Given the description of an element on the screen output the (x, y) to click on. 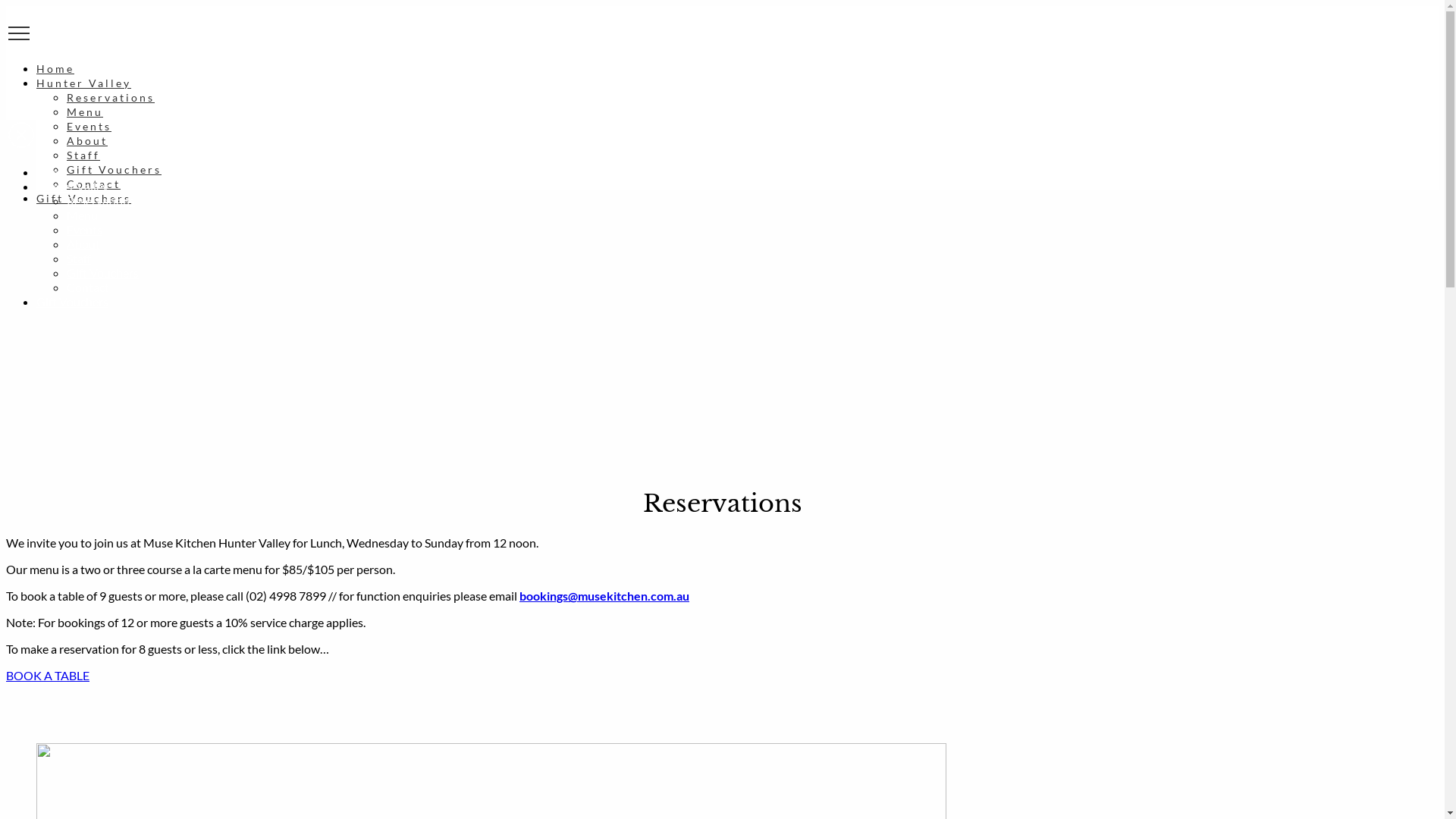
bookings@musekitchen.com.au Element type: text (604, 595)
Home Element type: text (55, 68)
Hunter Valley Element type: text (83, 82)
Staff Element type: text (78, 258)
Menu Element type: text (84, 111)
Gift Vouchers Element type: text (72, 301)
About Element type: text (86, 140)
Hunter Valley Element type: text (72, 185)
Events Element type: text (88, 125)
Gift Vouchers Element type: text (113, 169)
Events Element type: text (84, 229)
Staff Element type: text (83, 154)
Reservations Element type: text (100, 200)
Gift Vouchers Element type: text (102, 272)
Home Element type: text (52, 171)
Gift Vouchers Element type: text (83, 197)
BOOK A TABLE Element type: text (47, 675)
Menu Element type: text (81, 214)
Reservations Element type: text (110, 97)
Contact Element type: text (87, 286)
About Element type: text (83, 243)
Contact Element type: text (93, 183)
